Given the description of an element on the screen output the (x, y) to click on. 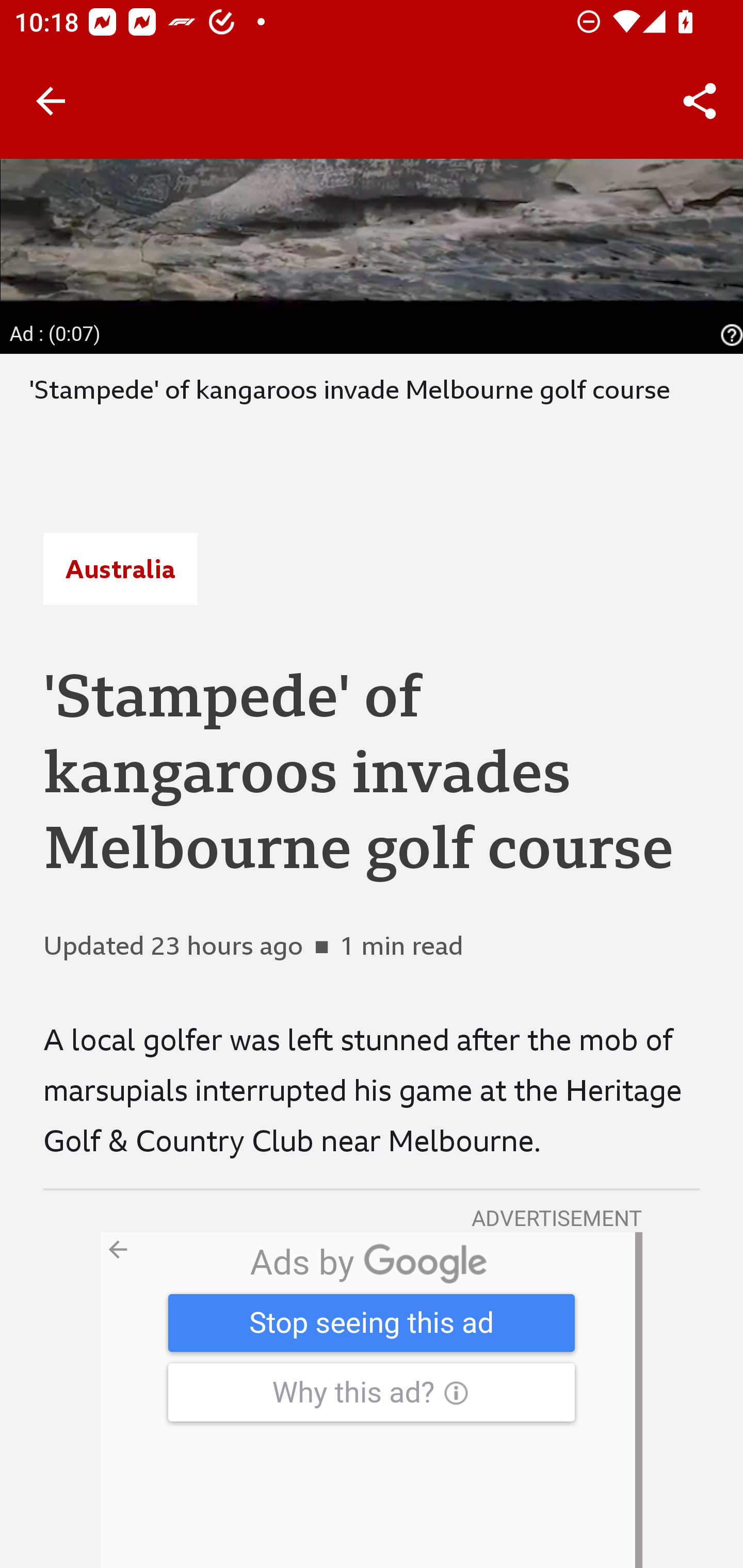
Back (50, 101)
Share (699, 101)
Ad : (0:07) (55, 333)
help_outline_white_24dp_with_3px_trbl_padding (729, 335)
Australia (120, 568)
